Given the description of an element on the screen output the (x, y) to click on. 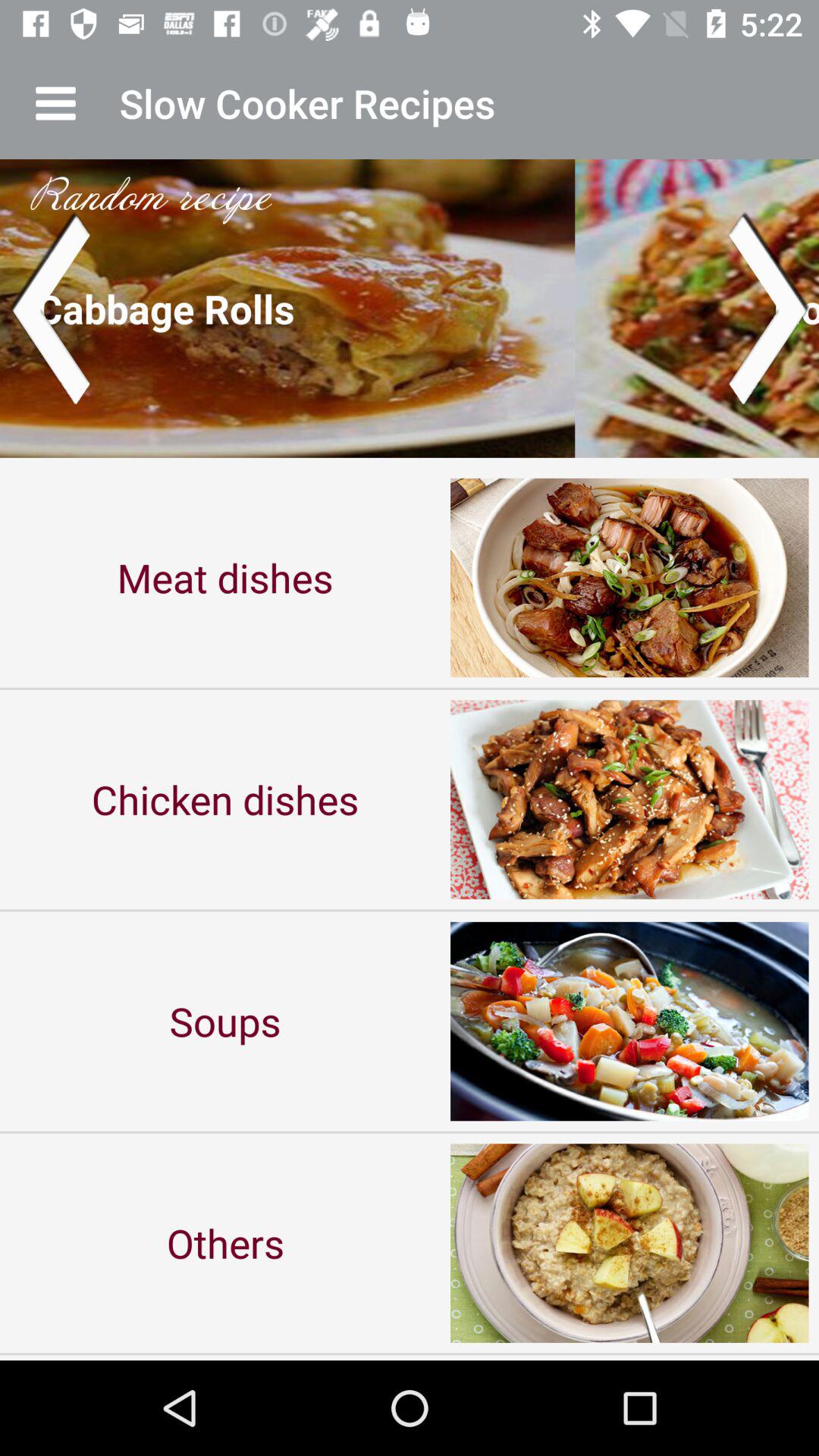
flip until meat dishes icon (225, 577)
